Given the description of an element on the screen output the (x, y) to click on. 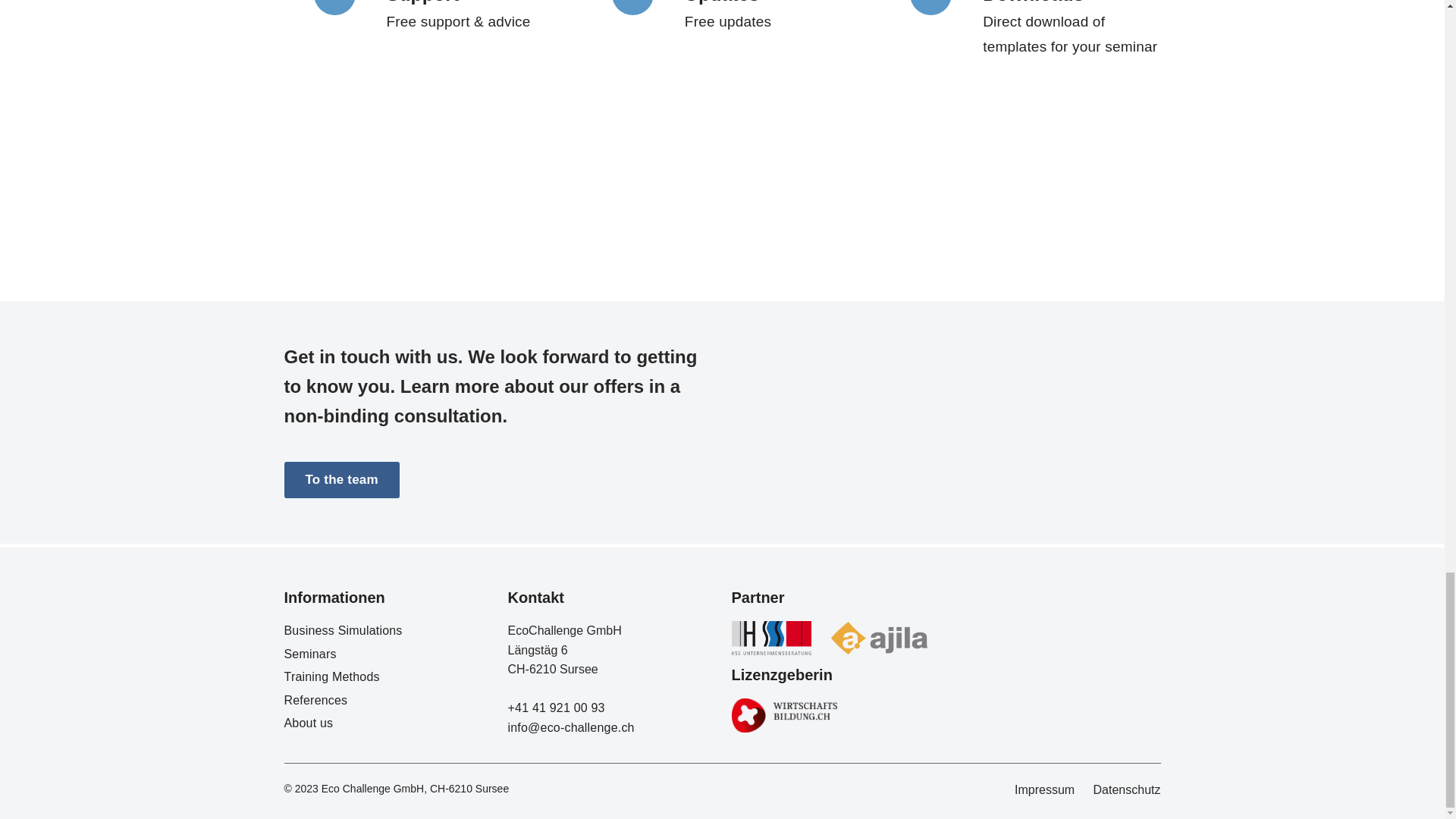
To the team (340, 479)
About us (308, 722)
References (315, 699)
Training Methods (330, 676)
Business Simulations (342, 630)
Seminars (309, 653)
